Given the description of an element on the screen output the (x, y) to click on. 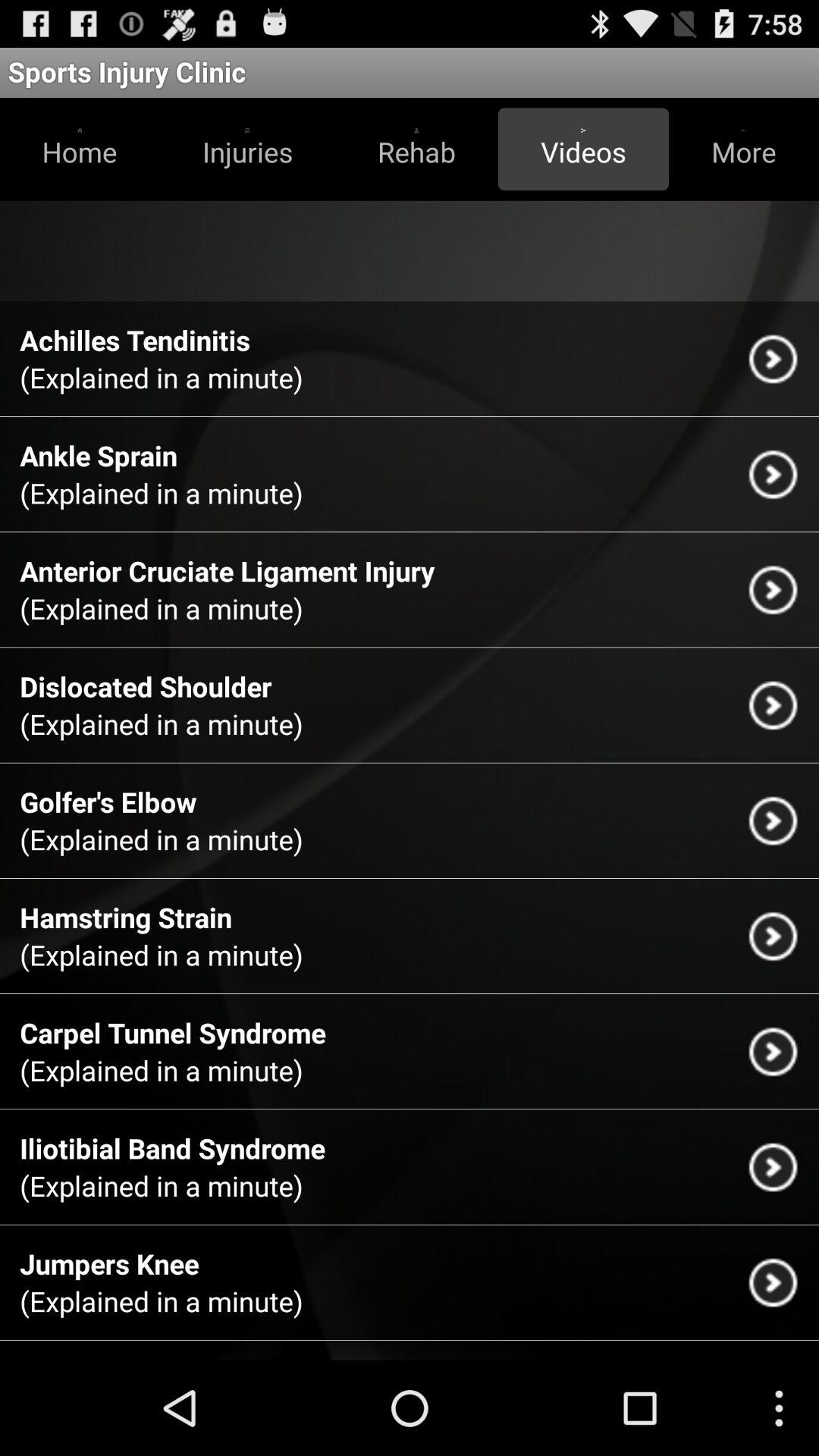
select icon next to explained in a icon (773, 358)
